Given the description of an element on the screen output the (x, y) to click on. 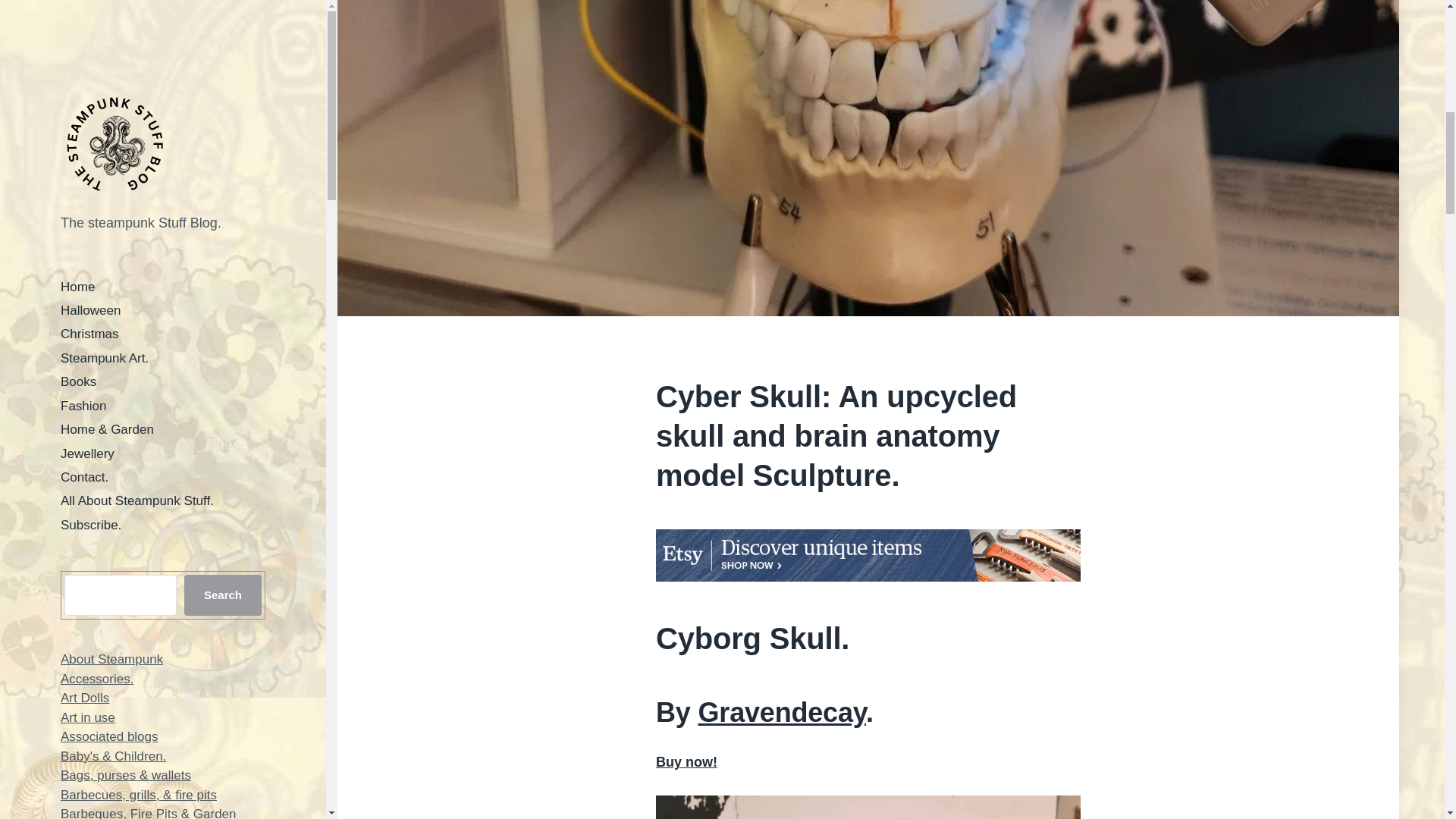
Clocks (80, 169)
Christmas (90, 149)
Books (78, 52)
Corsets. (84, 207)
Bracelets (88, 92)
Ceramics (88, 130)
Decoration (91, 304)
Costumes (90, 227)
Complete outfits (107, 187)
Cufflinks (85, 285)
